Given the description of an element on the screen output the (x, y) to click on. 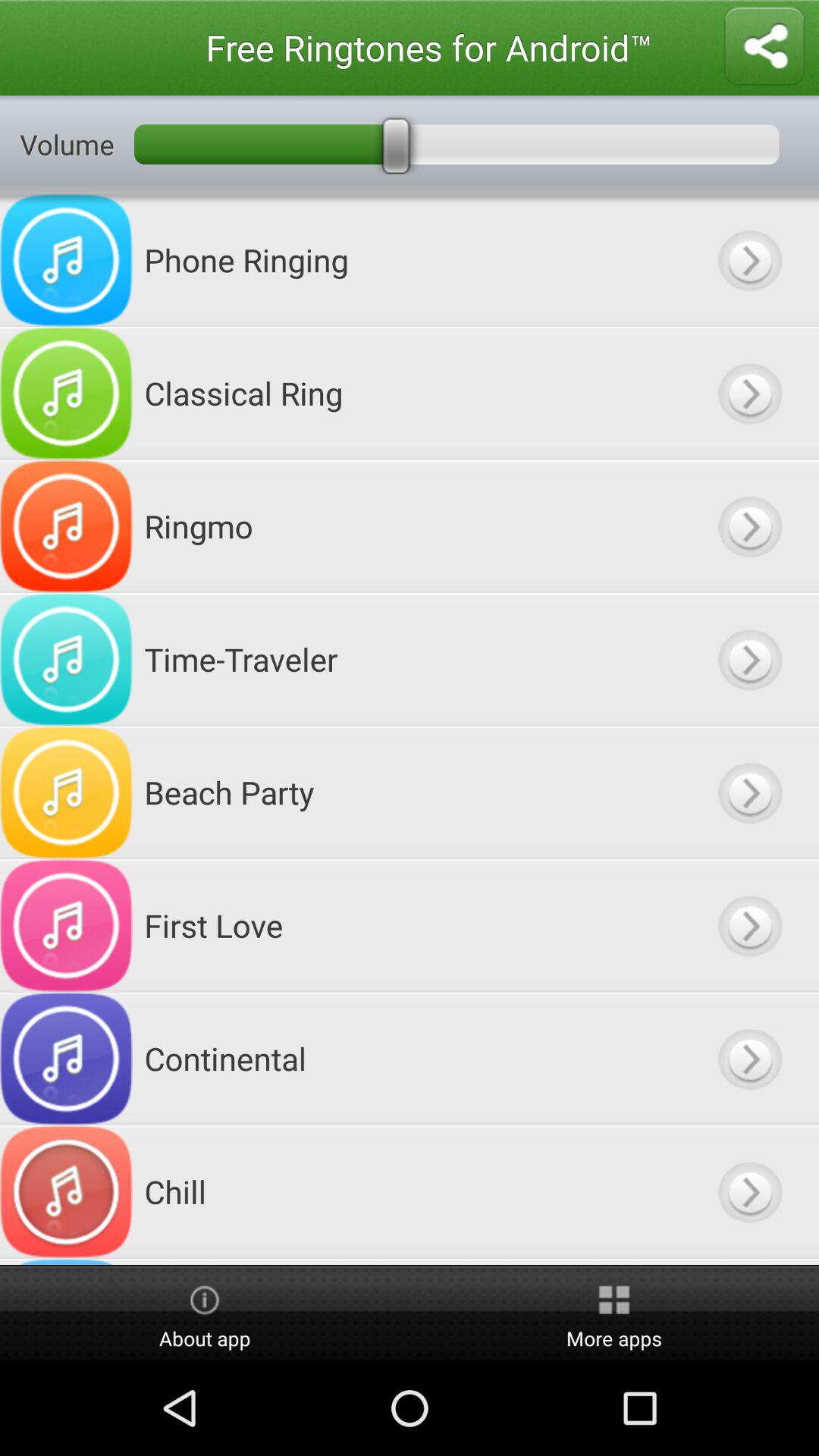
view 'phone ringing subtype (749, 259)
